Given the description of an element on the screen output the (x, y) to click on. 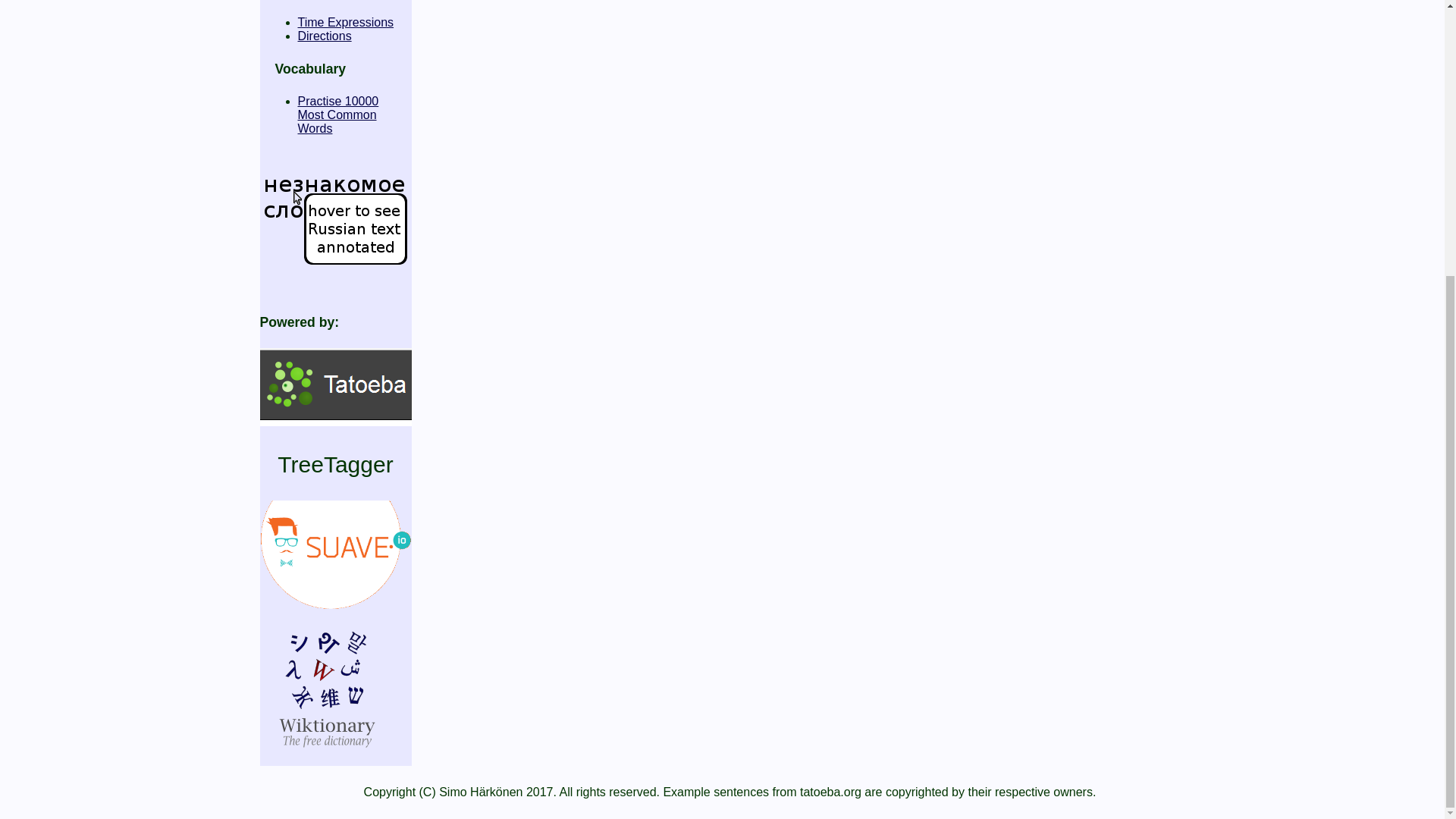
TreeTagger (335, 464)
Directions (323, 35)
Time Expressions (337, 115)
